Given the description of an element on the screen output the (x, y) to click on. 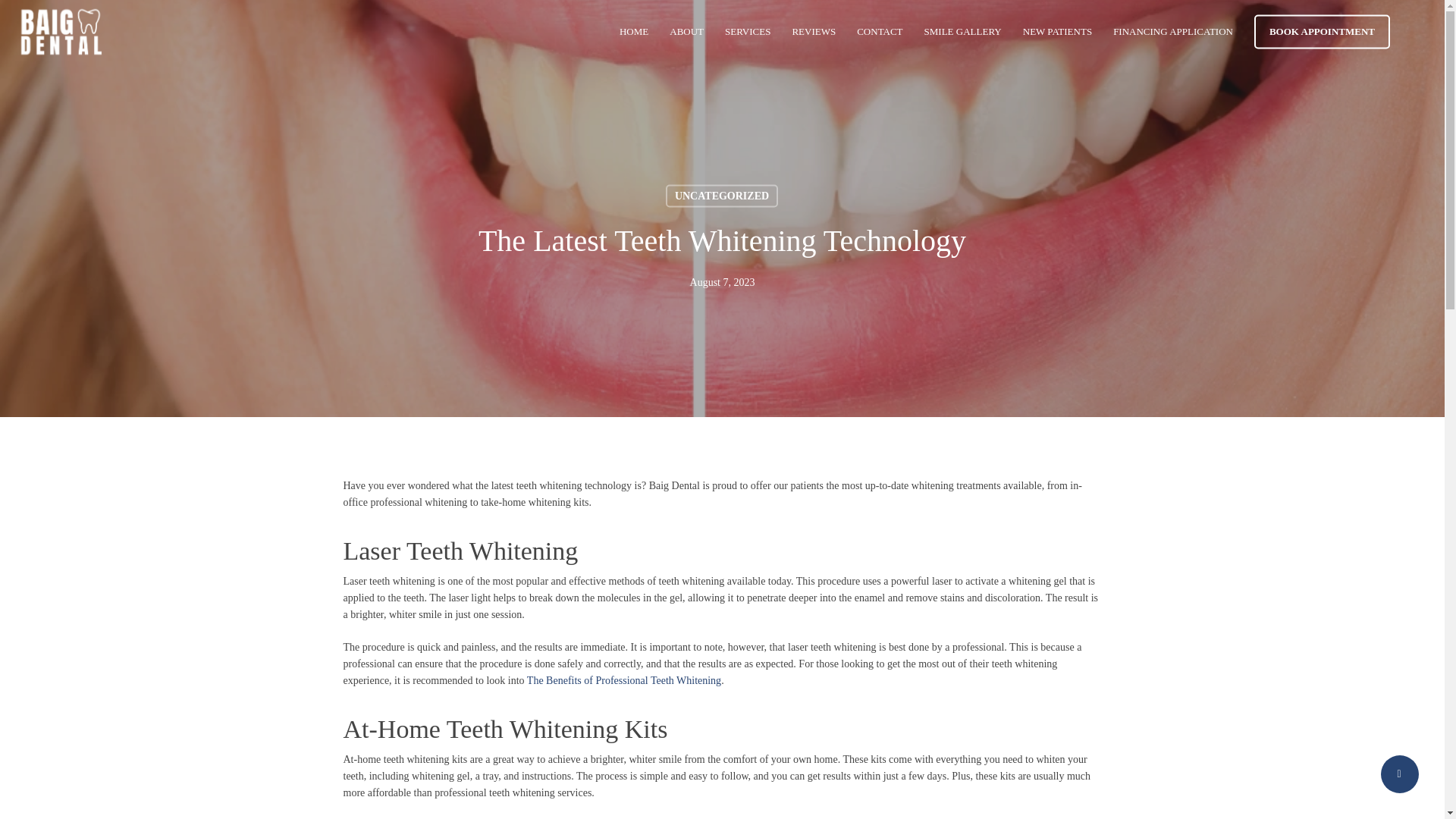
The Benefits of Professional Teeth Whitening (623, 680)
FINANCING APPLICATION (1173, 31)
BOOK APPOINTMENT (1321, 31)
SMILE GALLERY (962, 31)
NEW PATIENTS (1057, 31)
HOME (633, 31)
UNCATEGORIZED (721, 196)
SERVICES (747, 31)
REVIEWS (813, 31)
ABOUT (686, 31)
